Given the description of an element on the screen output the (x, y) to click on. 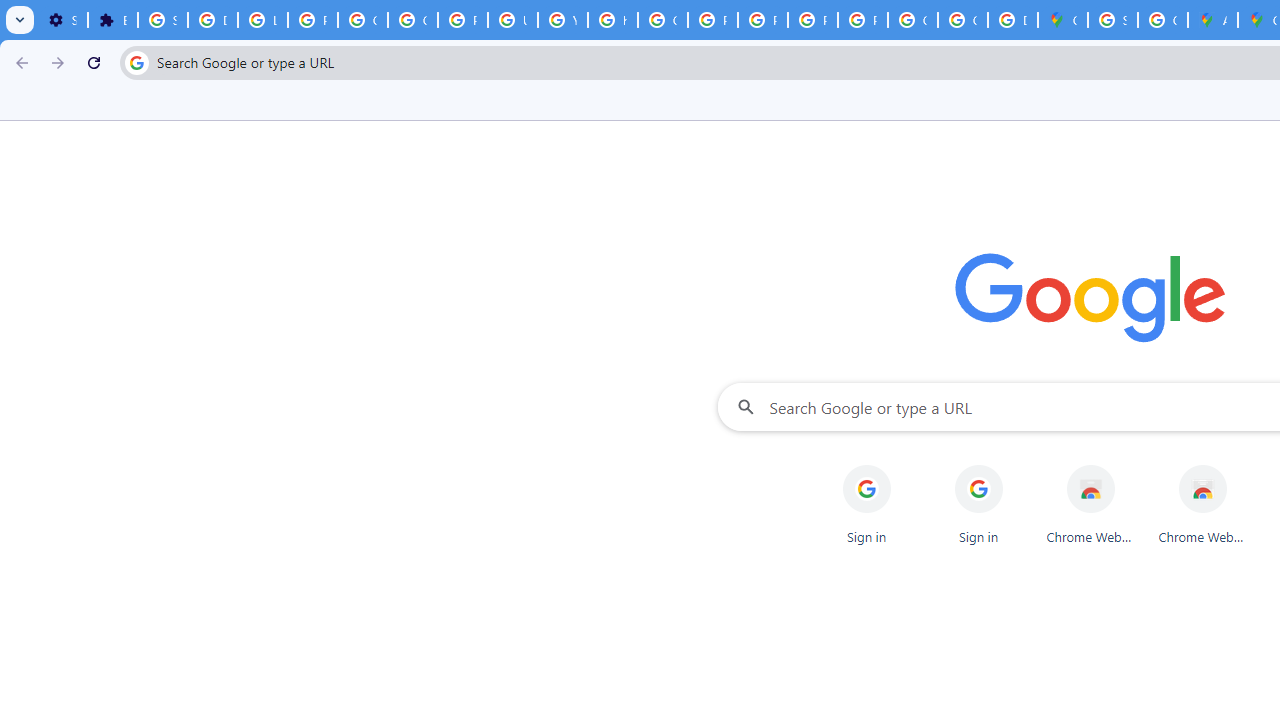
Sign in - Google Accounts (163, 20)
Sign in - Google Accounts (1112, 20)
https://scholar.google.com/ (612, 20)
Extensions (113, 20)
YouTube (562, 20)
Delete photos & videos - Computer - Google Photos Help (213, 20)
Google Account Help (412, 20)
